Given the description of an element on the screen output the (x, y) to click on. 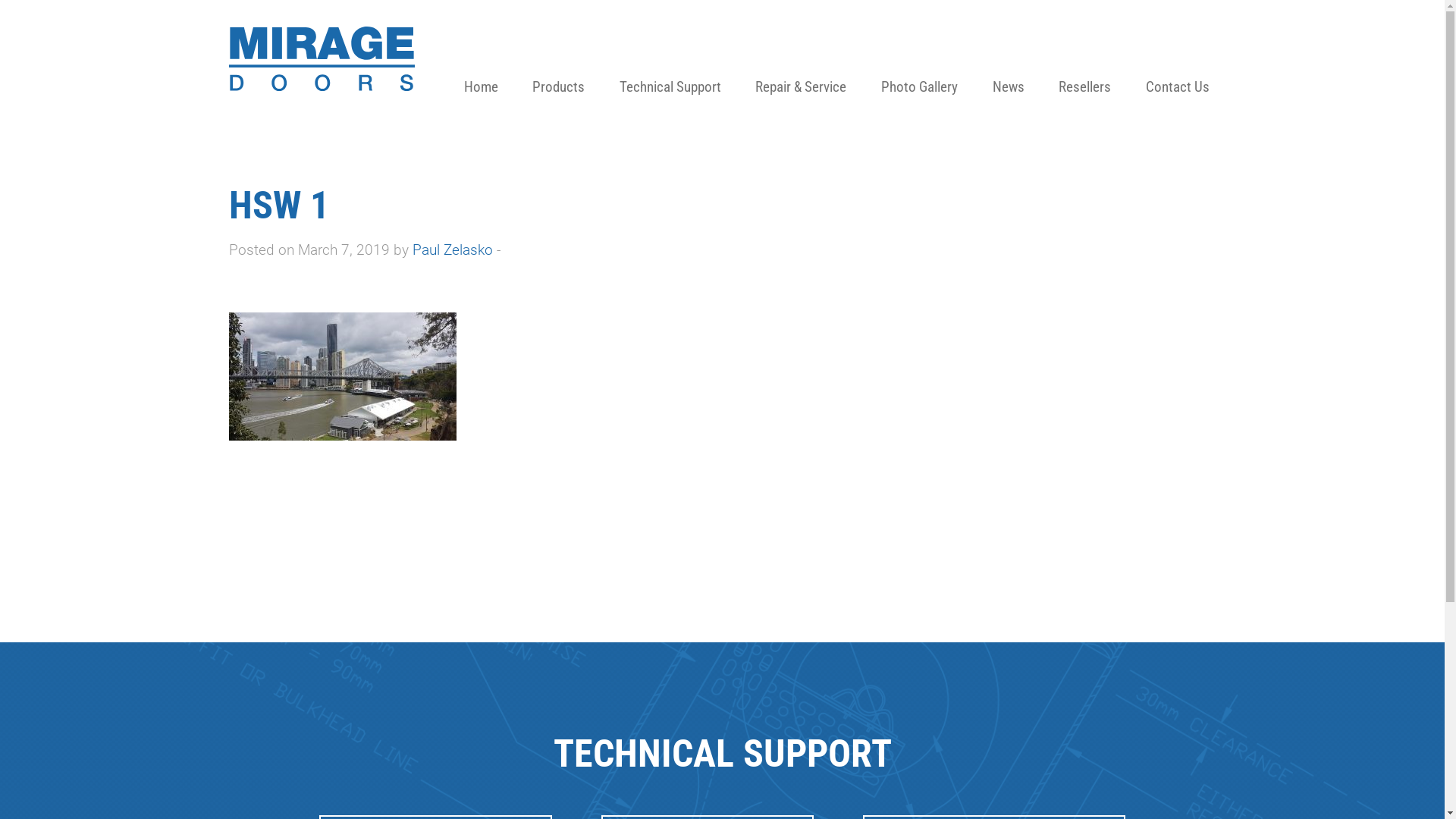
Repair & Service Element type: text (801, 61)
Products Element type: text (558, 61)
Technical Support Element type: text (670, 61)
Photo Gallery Element type: text (919, 61)
Contact Us Element type: text (1177, 61)
News Element type: text (1008, 61)
Paul Zelasko Element type: text (452, 249)
Home Element type: text (480, 61)
Resellers Element type: text (1084, 61)
